Given the description of an element on the screen output the (x, y) to click on. 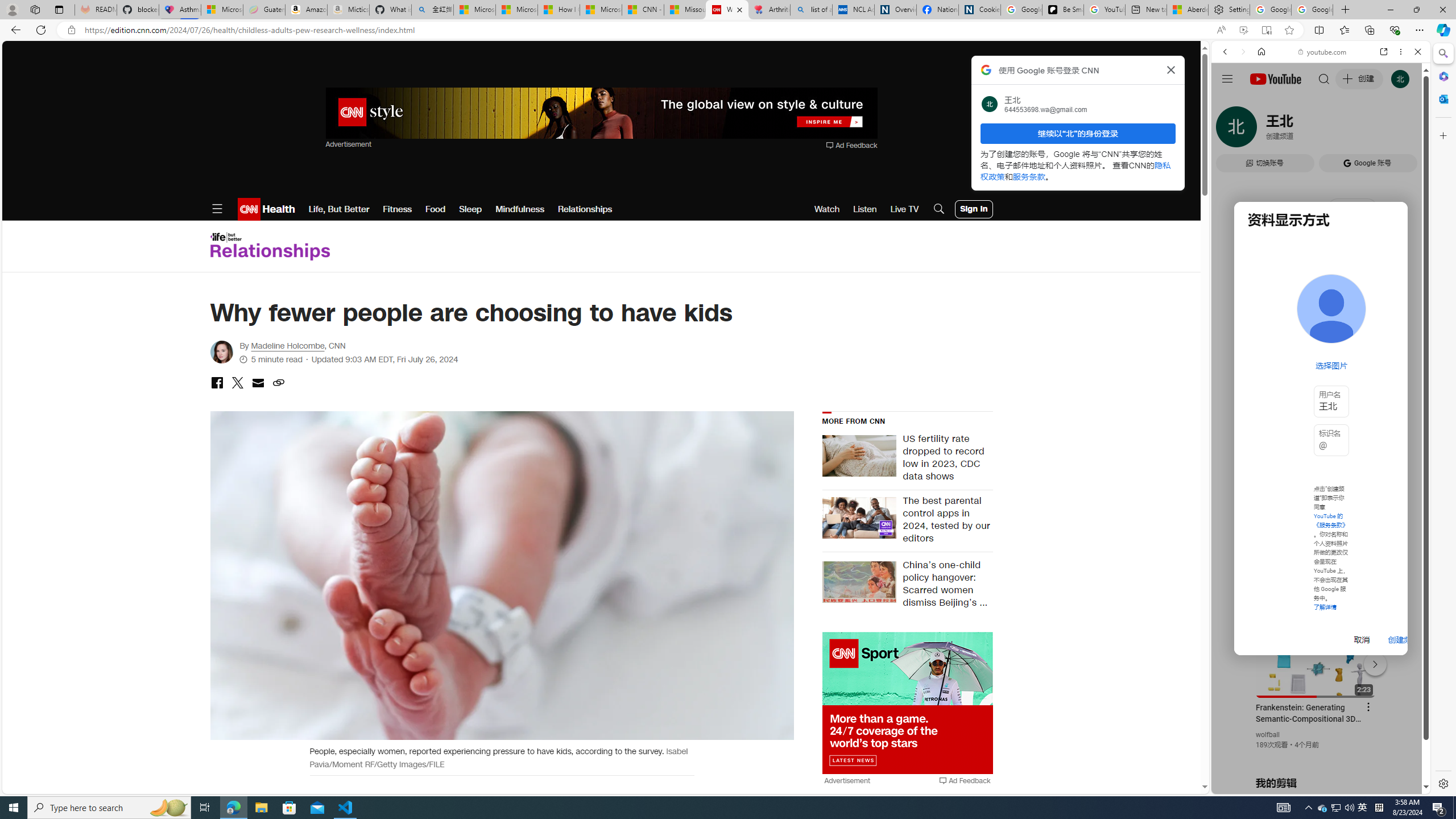
Class: icon-social-twitter (237, 382)
AutomationID: aw0 (906, 703)
share with facebook (216, 383)
